Given the description of an element on the screen output the (x, y) to click on. 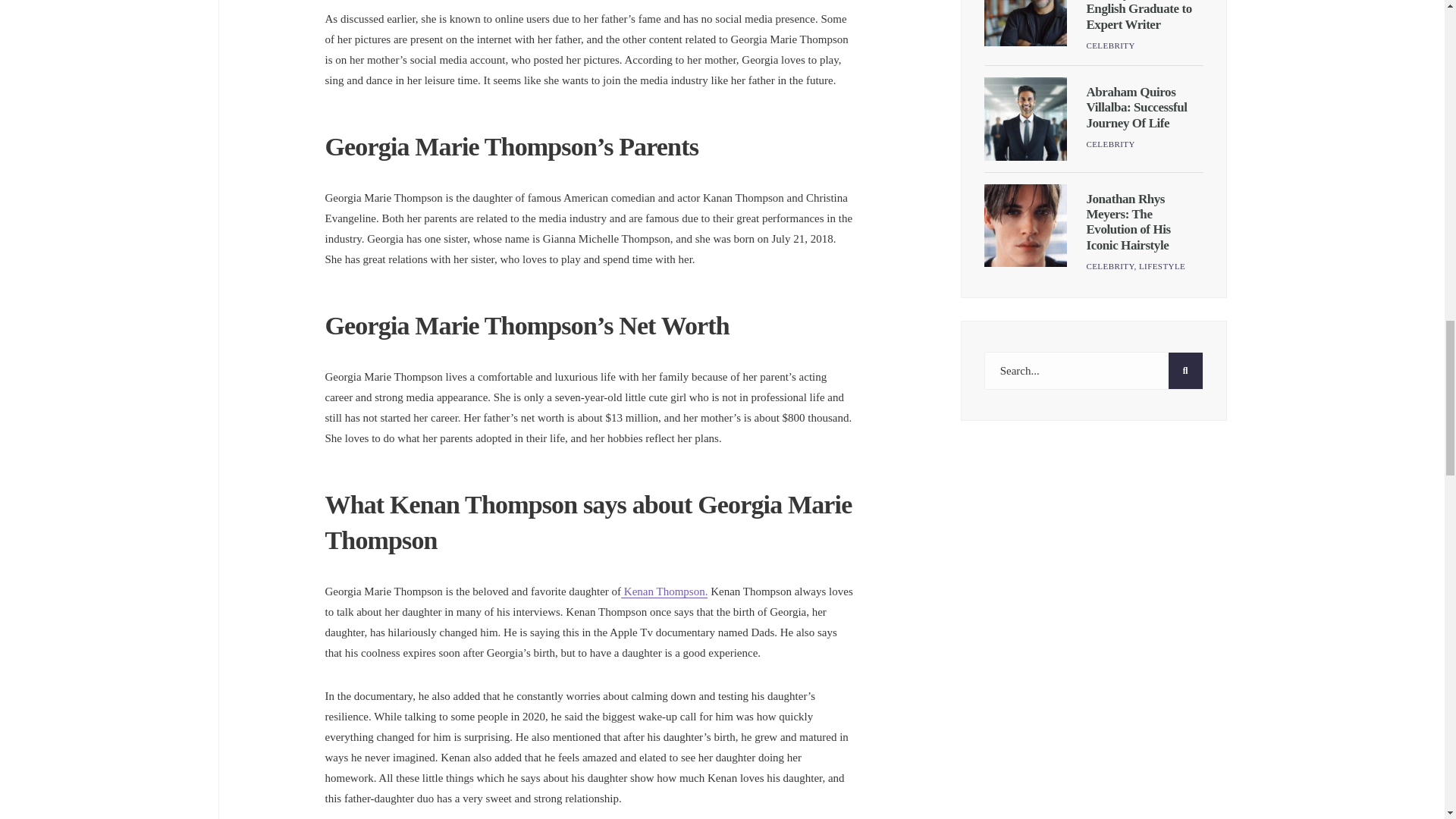
Abraham Quiros Villalba: Successful Journey Of Life (1136, 107)
Abraham Quiros Villalba: Successful Journey Of Life (1025, 118)
Search... (1094, 370)
Kenan Thompson. (664, 591)
Jonathan Rhys Meyers: The Evolution of His Iconic Hairstyle (1025, 225)
